Given the description of an element on the screen output the (x, y) to click on. 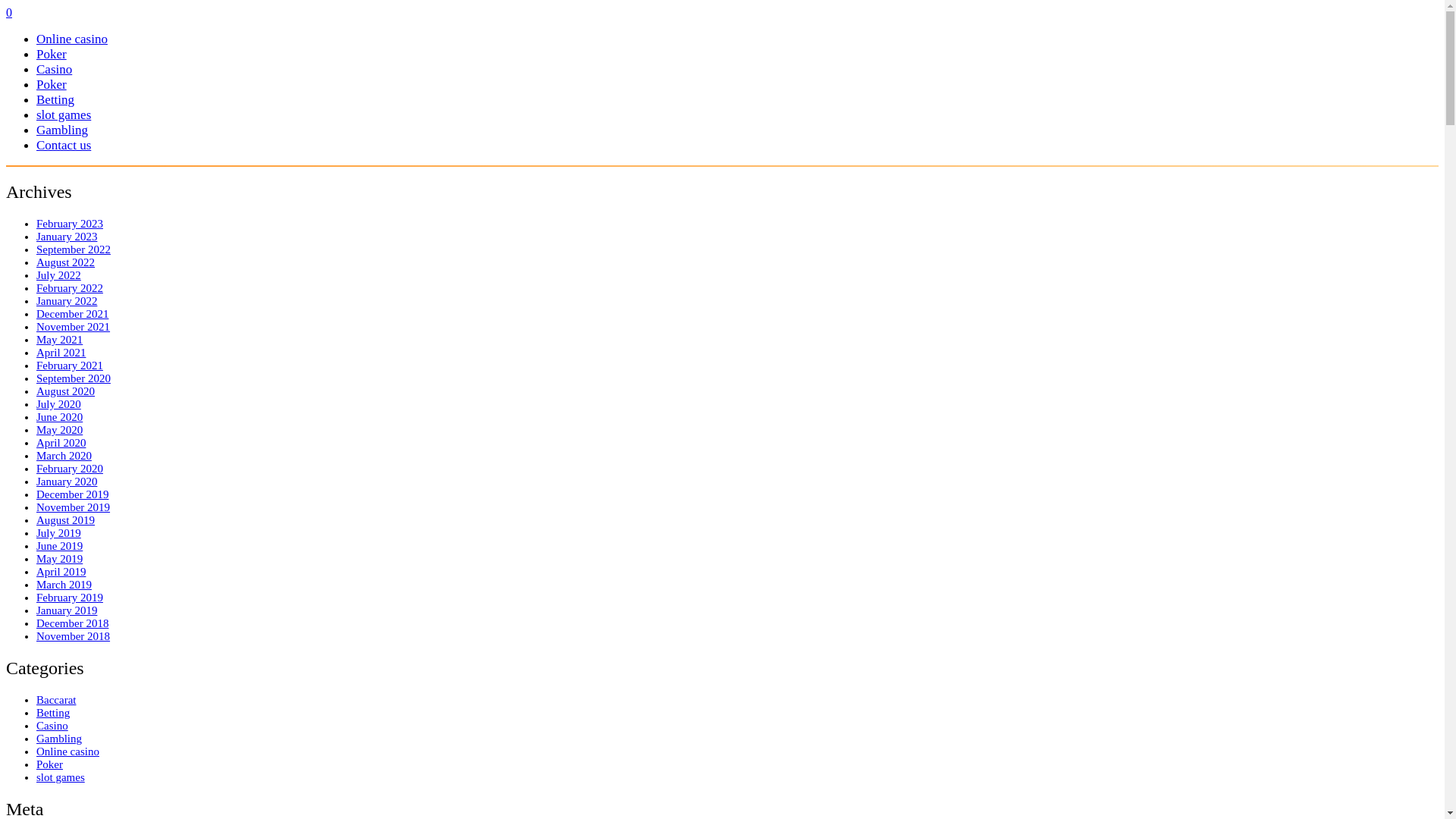
January 2020 Element type: text (66, 481)
April 2021 Element type: text (60, 352)
February 2020 Element type: text (69, 468)
Baccarat Element type: text (55, 699)
May 2020 Element type: text (59, 429)
slot games Element type: text (63, 114)
September 2020 Element type: text (73, 378)
November 2021 Element type: text (72, 326)
February 2021 Element type: text (69, 365)
August 2020 Element type: text (65, 391)
August 2022 Element type: text (65, 262)
November 2019 Element type: text (72, 507)
February 2019 Element type: text (69, 597)
February 2022 Element type: text (69, 288)
January 2023 Element type: text (66, 236)
March 2019 Element type: text (63, 584)
June 2019 Element type: text (59, 545)
Poker Element type: text (51, 84)
Poker Element type: text (49, 764)
January 2022 Element type: text (66, 300)
Online casino Element type: text (67, 751)
July 2022 Element type: text (58, 275)
April 2019 Element type: text (60, 571)
June 2020 Element type: text (59, 417)
Casino Element type: text (54, 69)
February 2023 Element type: text (69, 223)
Betting Element type: text (52, 712)
0 Element type: text (9, 12)
Gambling Element type: text (58, 738)
March 2020 Element type: text (63, 455)
January 2019 Element type: text (66, 610)
July 2019 Element type: text (58, 533)
Betting Element type: text (55, 99)
July 2020 Element type: text (58, 404)
December 2019 Element type: text (72, 494)
September 2022 Element type: text (73, 249)
May 2021 Element type: text (59, 339)
Gambling Element type: text (61, 129)
December 2018 Element type: text (72, 623)
December 2021 Element type: text (72, 313)
April 2020 Element type: text (60, 442)
Contact us Element type: text (63, 145)
November 2018 Element type: text (72, 636)
Poker Element type: text (51, 54)
August 2019 Element type: text (65, 520)
Casino Element type: text (52, 725)
slot games Element type: text (60, 777)
May 2019 Element type: text (59, 558)
Online casino Element type: text (71, 38)
